Given the description of an element on the screen output the (x, y) to click on. 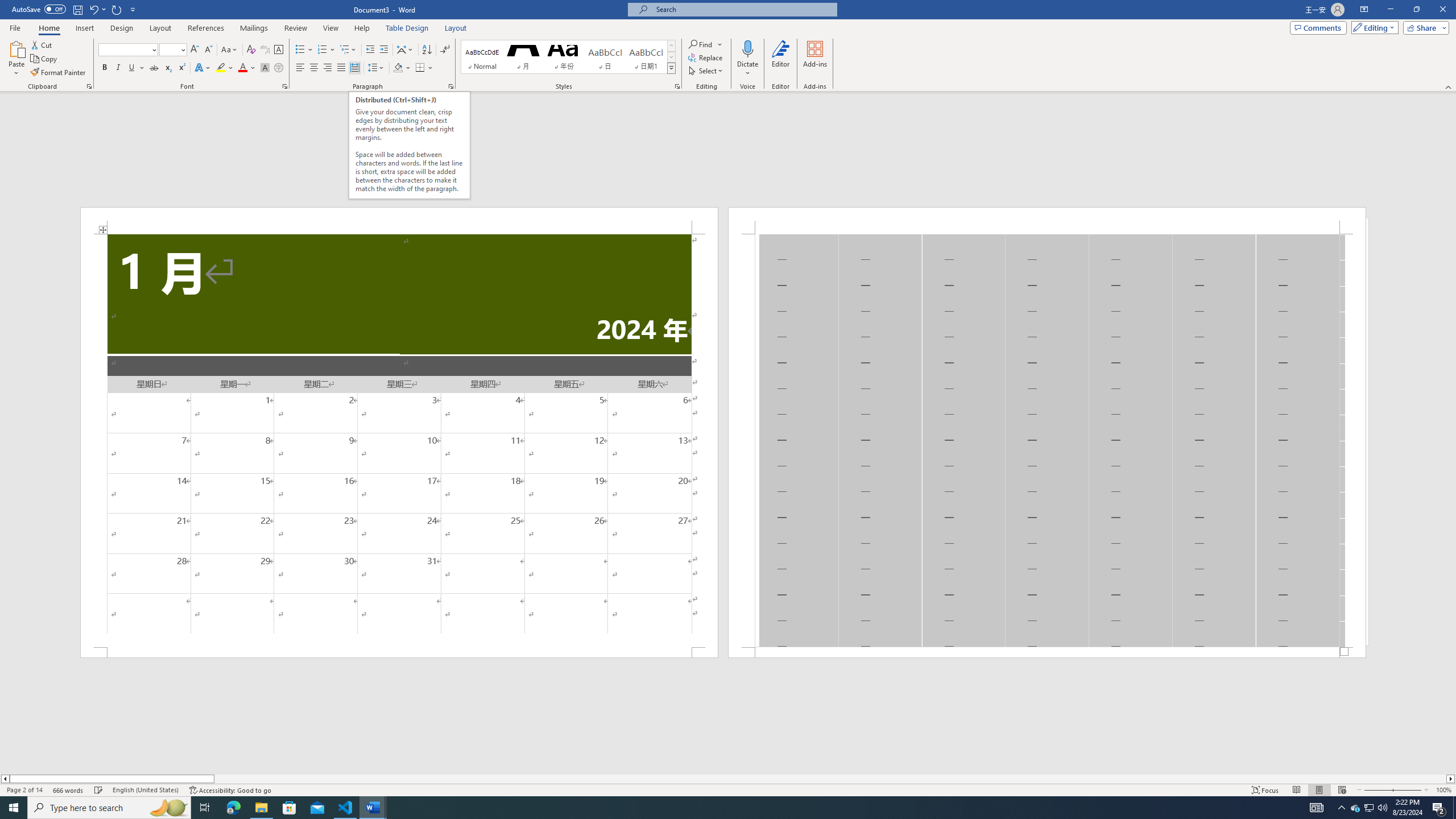
Header -Section 1- (1046, 220)
Page right (829, 778)
